Given the description of an element on the screen output the (x, y) to click on. 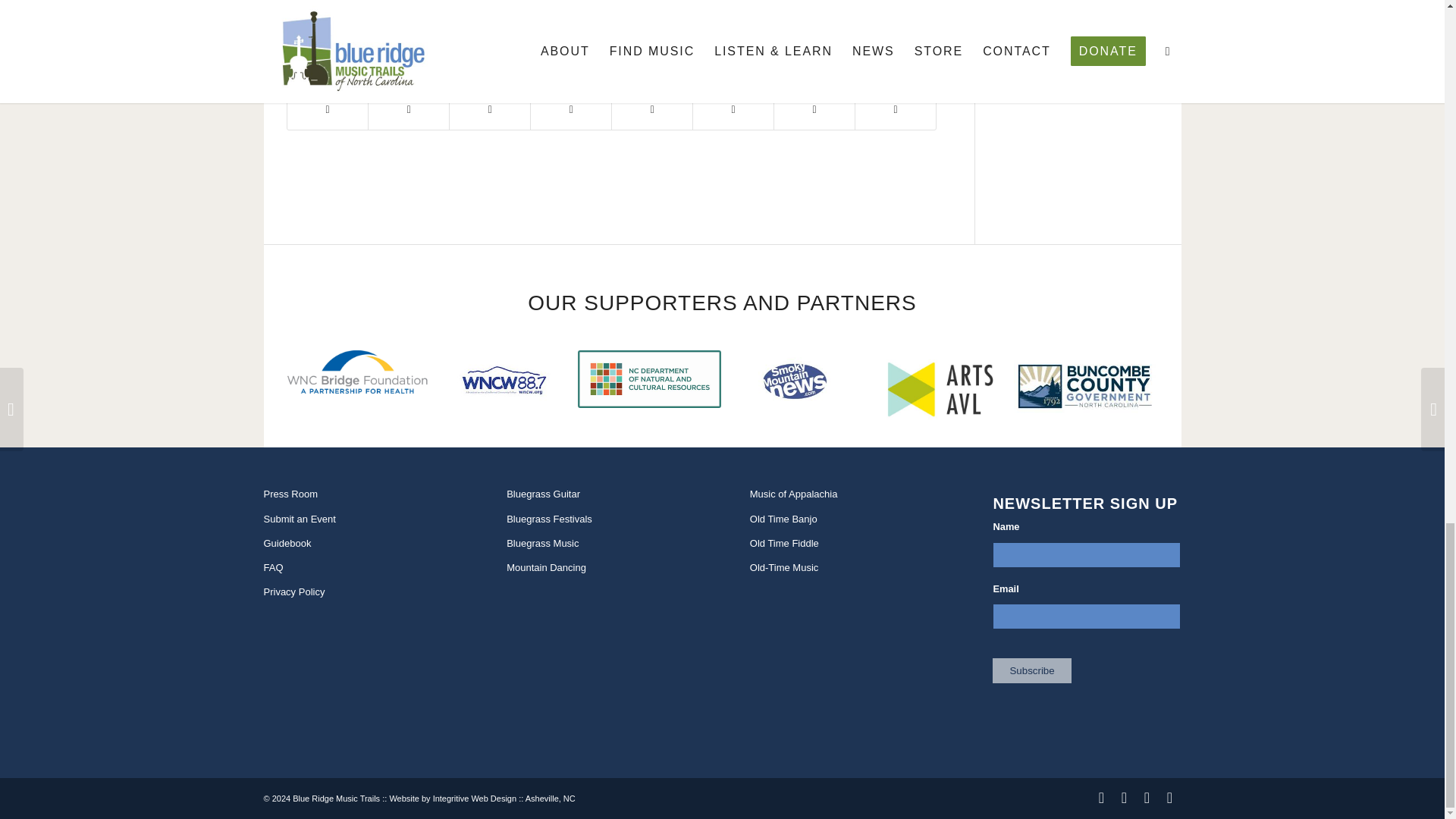
Subscribe (1031, 670)
